Given the description of an element on the screen output the (x, y) to click on. 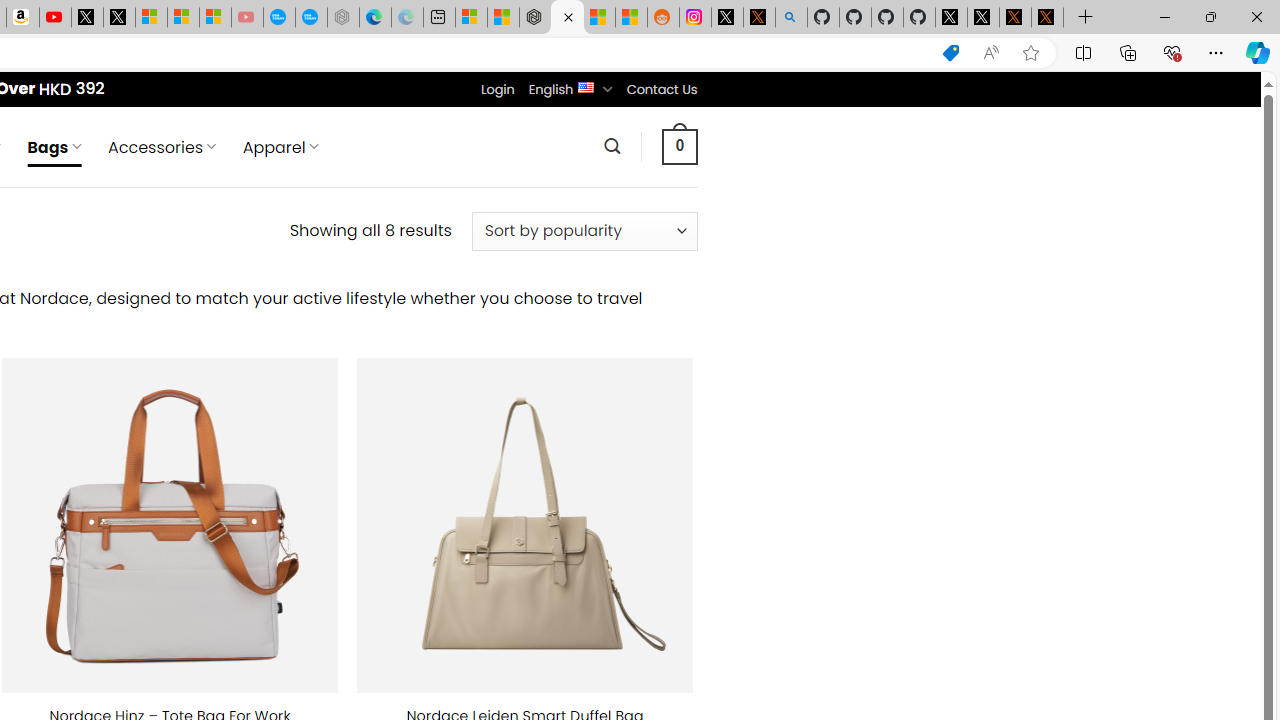
English (586, 86)
help.x.com | 524: A timeout occurred (758, 17)
Nordace - Duffels (566, 17)
Login (497, 89)
  0   (679, 146)
Nordace - Best Sellers (535, 17)
